Given the description of an element on the screen output the (x, y) to click on. 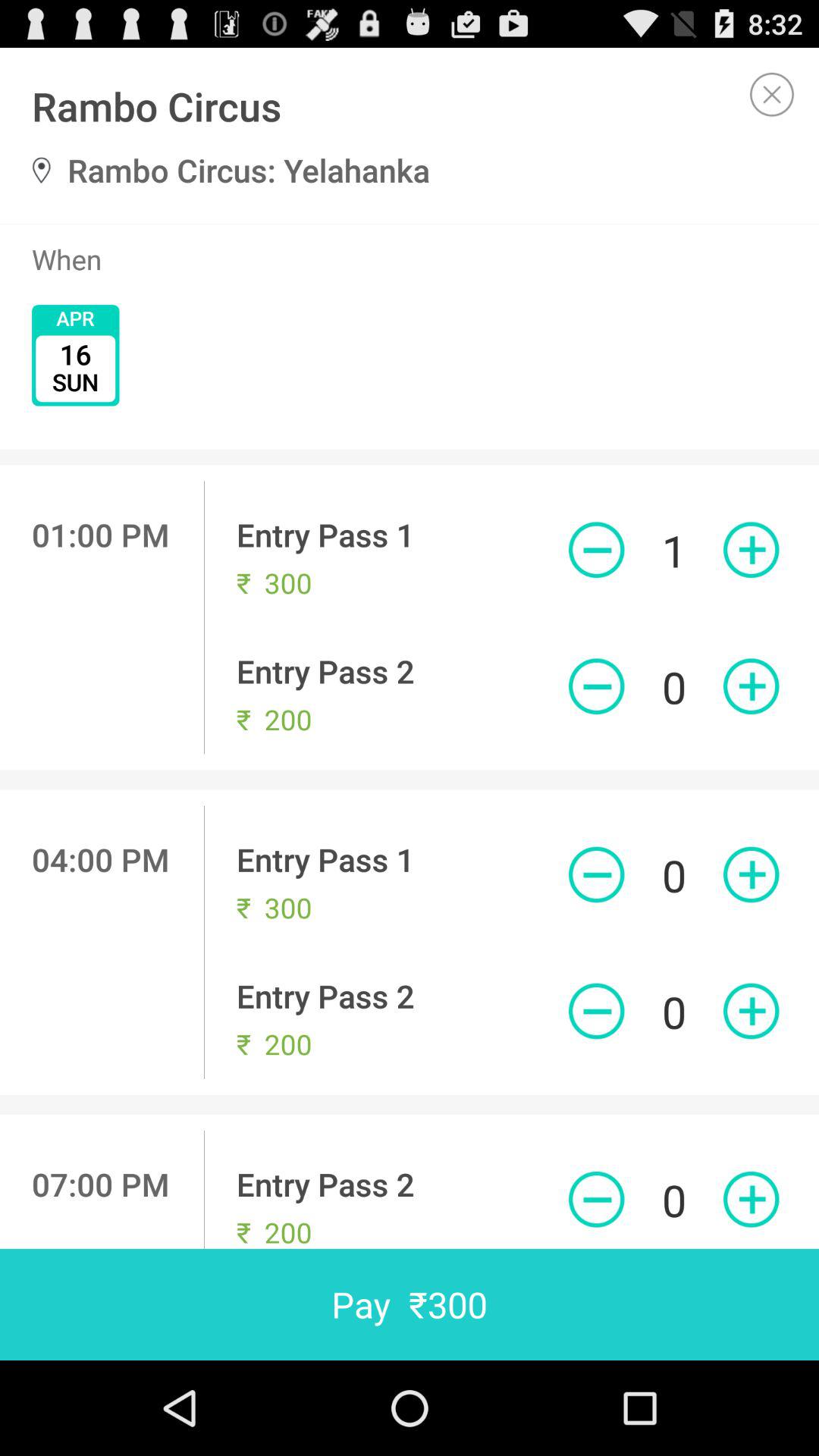
decrease purchase amount (596, 686)
